Given the description of an element on the screen output the (x, y) to click on. 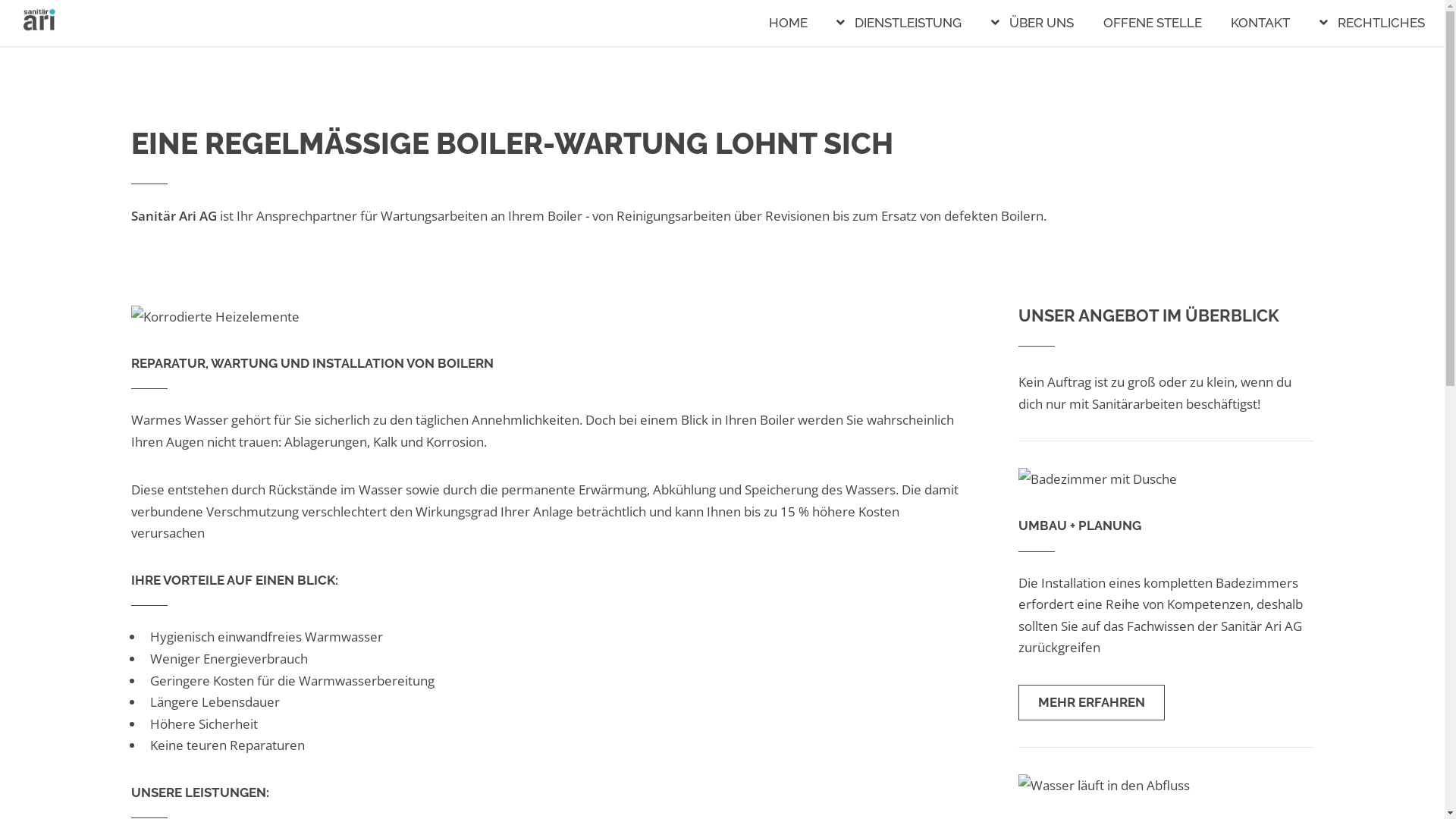
KONTAKT Element type: text (1259, 22)
DIENSTLEISTUNG Element type: text (898, 22)
OFFENE STELLE Element type: text (1152, 22)
HOME Element type: text (787, 22)
MEHR ERFAHREN Element type: text (1090, 702)
RECHTLICHES Element type: text (1371, 22)
